Given the description of an element on the screen output the (x, y) to click on. 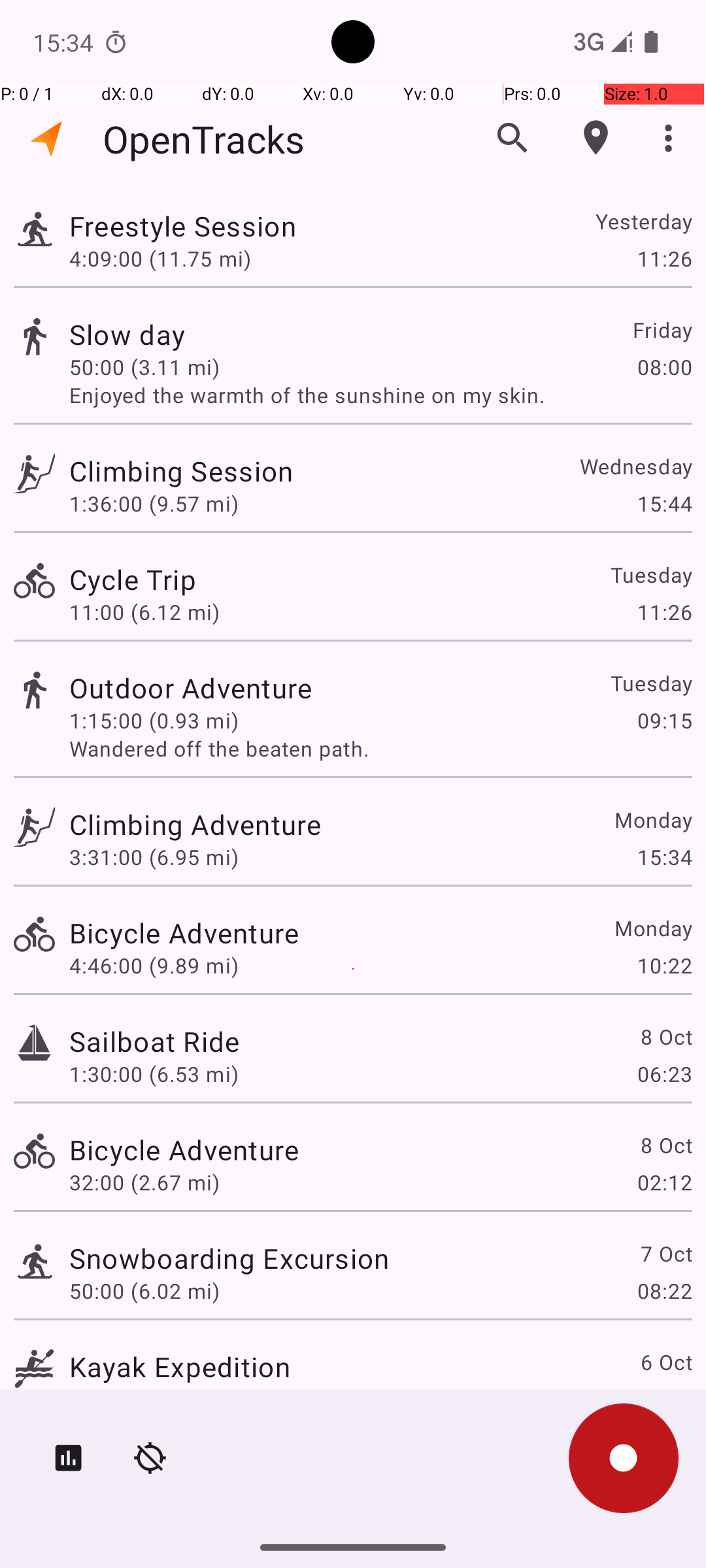
Freestyle Session Element type: android.widget.TextView (182, 225)
4:09:00 (11.75 mi) Element type: android.widget.TextView (159, 258)
11:26 Element type: android.widget.TextView (664, 258)
50:00 (3.11 mi) Element type: android.widget.TextView (144, 366)
Enjoyed the warmth of the sunshine on my skin. Element type: android.widget.TextView (380, 394)
Climbing Session Element type: android.widget.TextView (180, 470)
1:36:00 (9.57 mi) Element type: android.widget.TextView (153, 503)
15:44 Element type: android.widget.TextView (664, 503)
11:00 (6.12 mi) Element type: android.widget.TextView (144, 611)
1:15:00 (0.93 mi) Element type: android.widget.TextView (153, 720)
09:15 Element type: android.widget.TextView (664, 720)
Wandered off the beaten path. Element type: android.widget.TextView (380, 748)
Climbing Adventure Element type: android.widget.TextView (194, 823)
3:31:00 (6.95 mi) Element type: android.widget.TextView (153, 856)
Bicycle Adventure Element type: android.widget.TextView (183, 932)
4:46:00 (9.89 mi) Element type: android.widget.TextView (153, 965)
10:22 Element type: android.widget.TextView (664, 965)
Sailboat Ride Element type: android.widget.TextView (154, 1040)
1:30:00 (6.53 mi) Element type: android.widget.TextView (153, 1073)
06:23 Element type: android.widget.TextView (664, 1073)
32:00 (2.67 mi) Element type: android.widget.TextView (144, 1182)
02:12 Element type: android.widget.TextView (664, 1182)
Snowboarding Excursion Element type: android.widget.TextView (229, 1257)
50:00 (6.02 mi) Element type: android.widget.TextView (144, 1290)
08:22 Element type: android.widget.TextView (664, 1290)
Kayak Expedition Element type: android.widget.TextView (179, 1366)
1:09:00 (3.47 mi) Element type: android.widget.TextView (153, 1399)
18:07 Element type: android.widget.TextView (664, 1399)
